Given the description of an element on the screen output the (x, y) to click on. 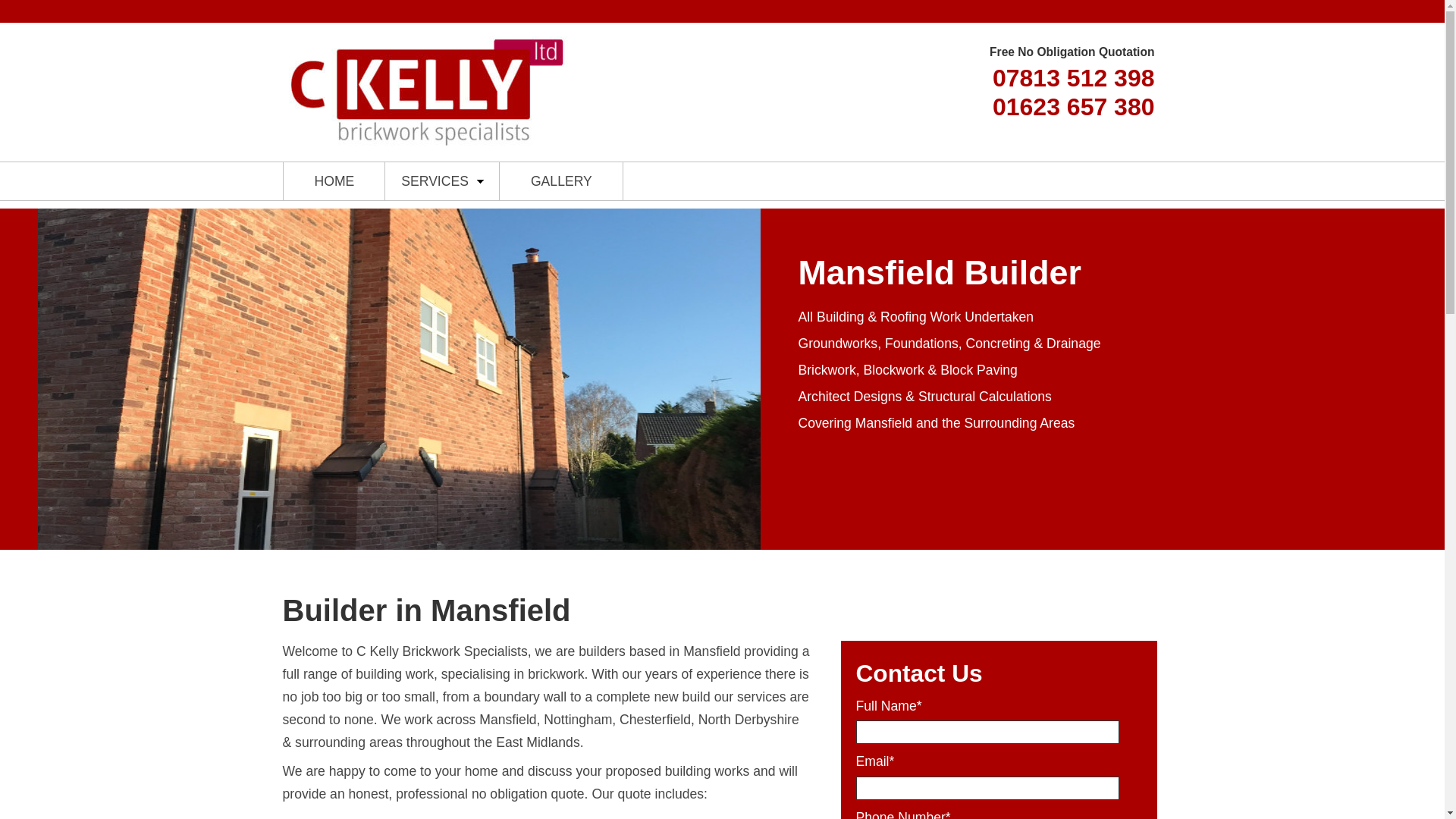
07813 512 398 (1073, 77)
Mansfield Builder (426, 146)
SERVICES (442, 180)
HOME (333, 180)
GALLERY (561, 180)
01623 657 380 (1073, 106)
